Given the description of an element on the screen output the (x, y) to click on. 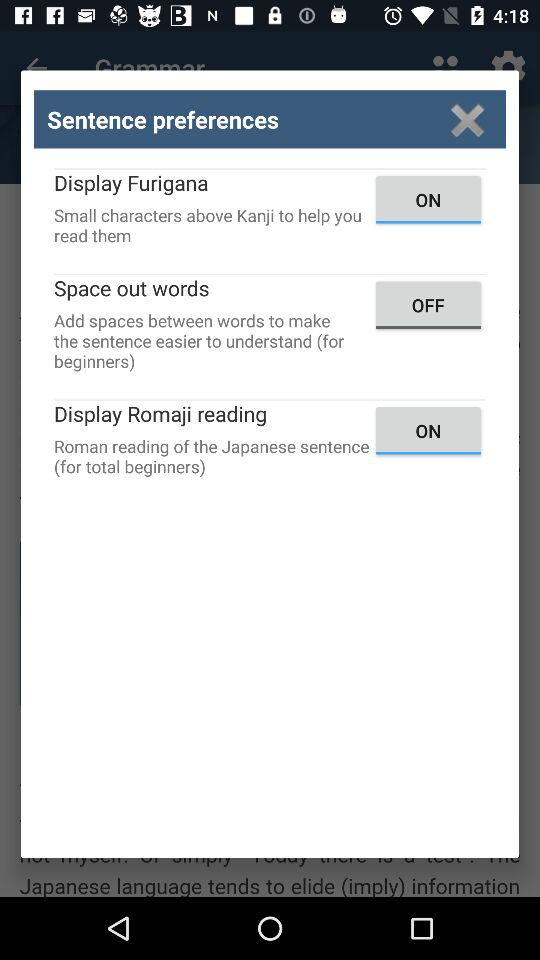
go to close (467, 119)
